Given the description of an element on the screen output the (x, y) to click on. 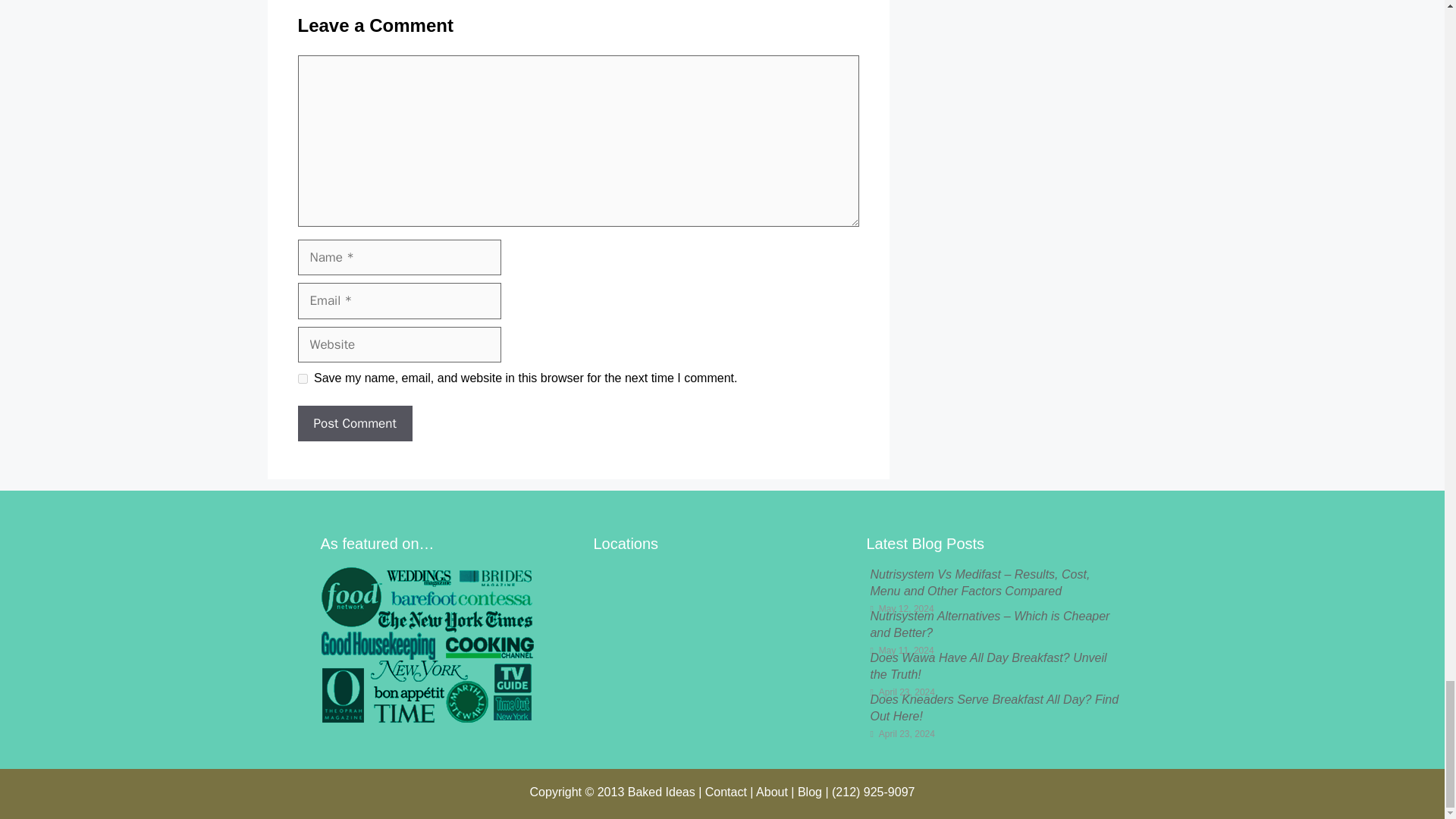
Does Kneaders Serve Breakfast All Day? Find Out Here! (993, 707)
London Eye, London, United Kingdom (721, 643)
Does Wawa Have All Day Breakfast? Unveil the Truth! (987, 665)
Baked Ideas (661, 791)
Post Comment (354, 422)
yes (302, 378)
